Given the description of an element on the screen output the (x, y) to click on. 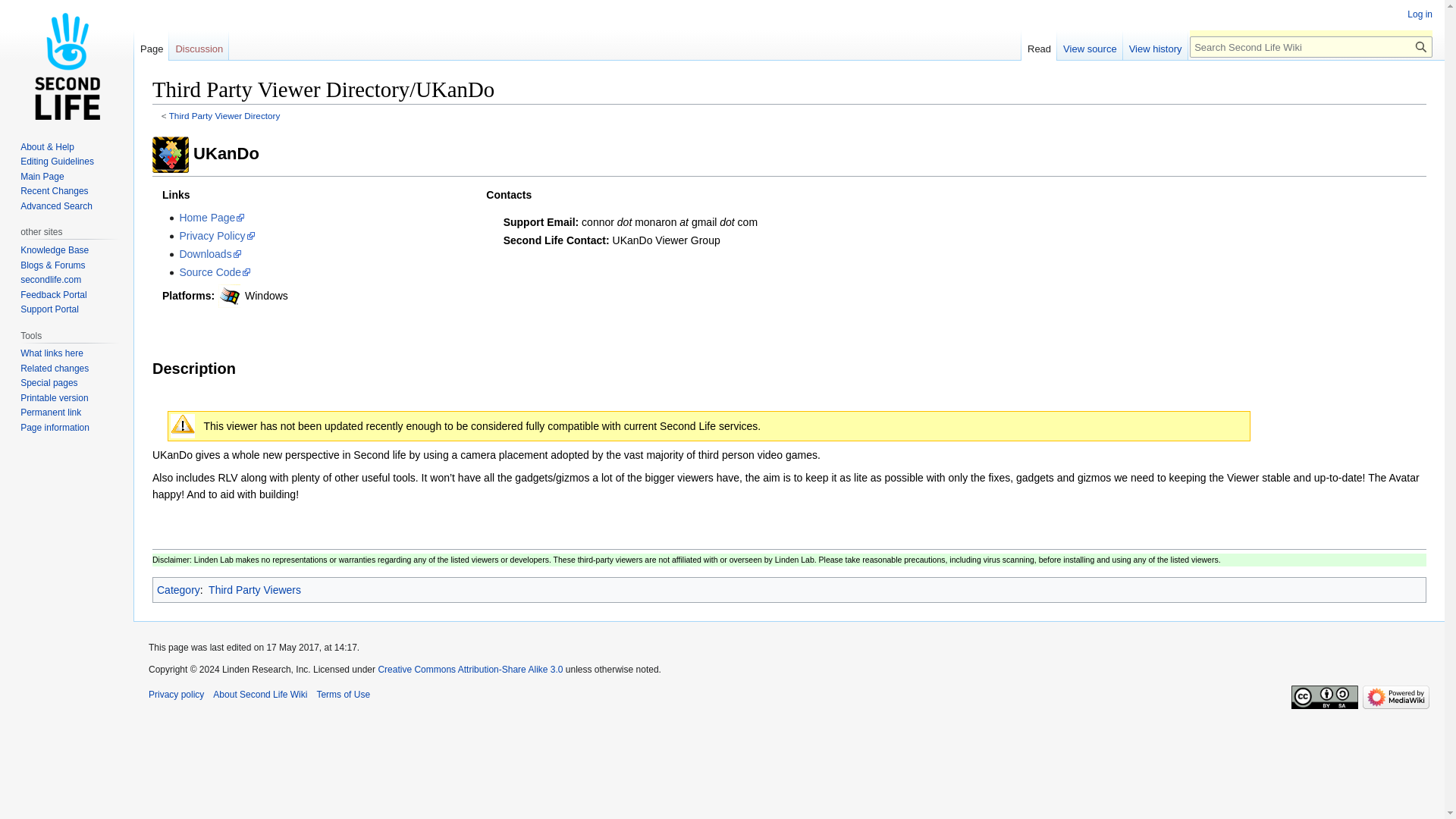
Discussion (198, 45)
Search (1420, 46)
Page (150, 45)
Main Page (42, 176)
Go (1420, 46)
Search (1420, 46)
Go (1420, 46)
Feedback Portal (52, 294)
secondlife.com (50, 279)
Search (1420, 46)
Related changes (54, 368)
Third Party Viewer Directory (224, 115)
Downloads (210, 254)
Special:Categories (178, 589)
View history (1155, 45)
